Given the description of an element on the screen output the (x, y) to click on. 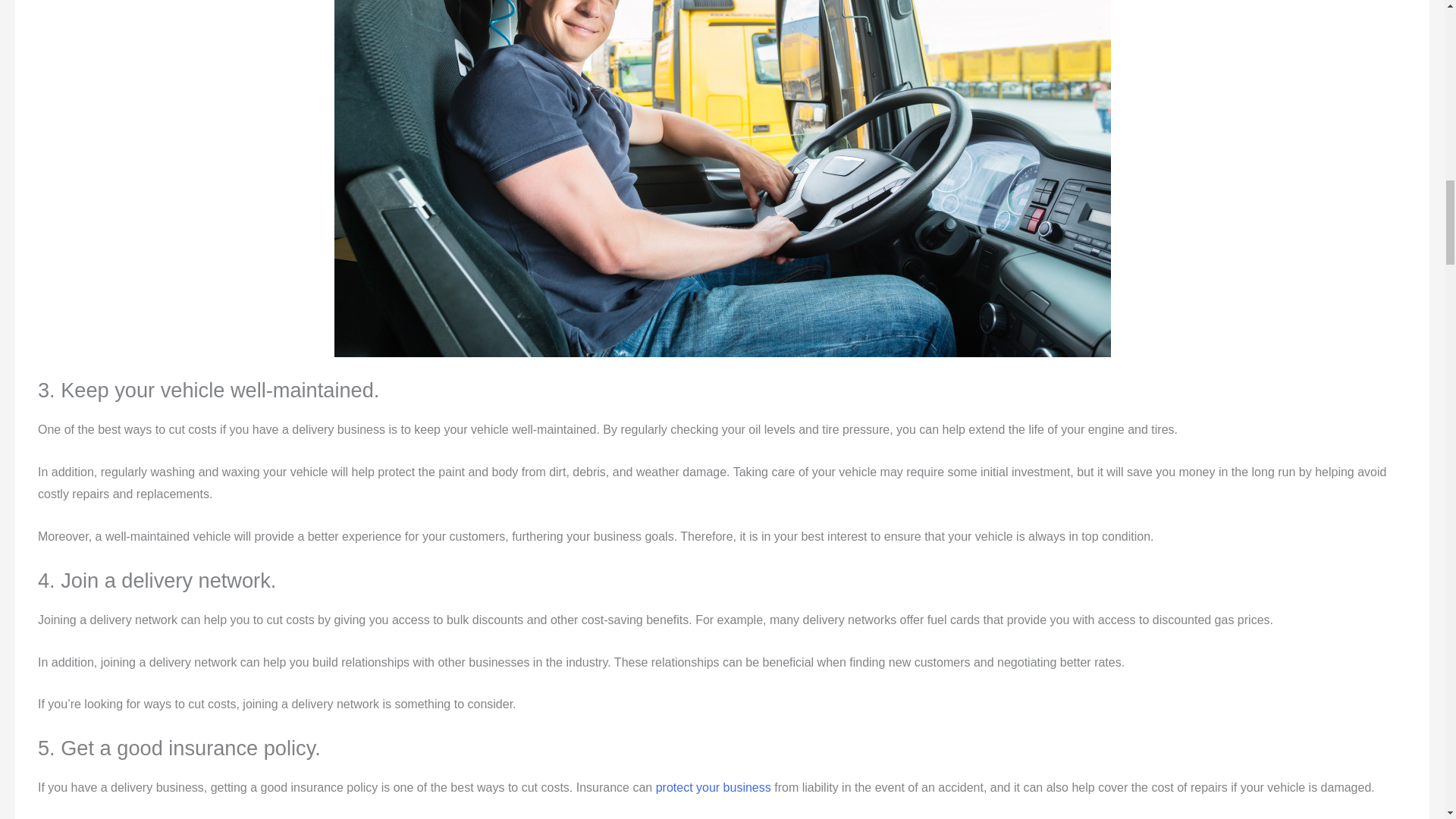
protect your business (713, 787)
